Given the description of an element on the screen output the (x, y) to click on. 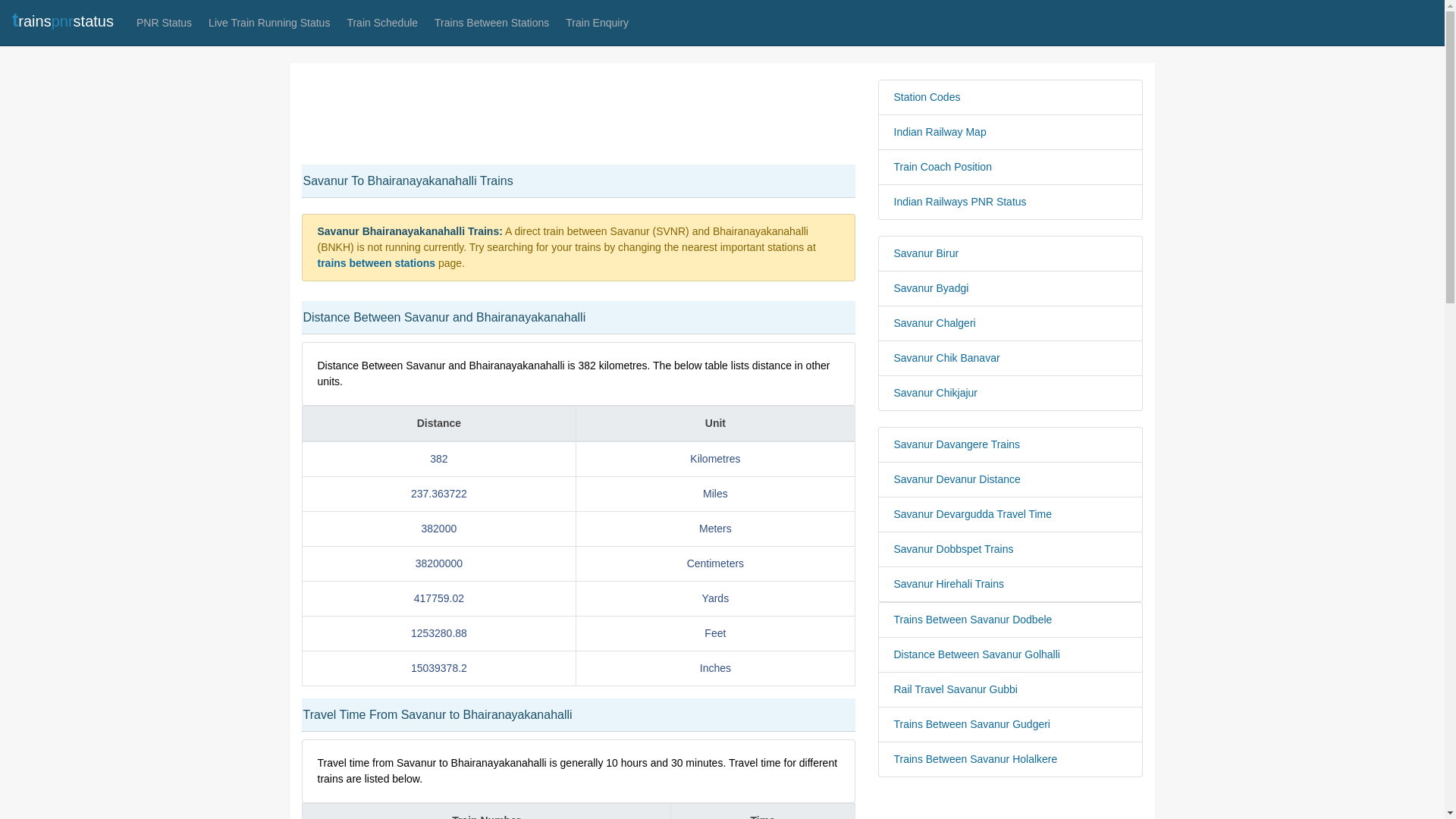
Train Coach Position (1009, 167)
Savanur Devanur Distance (1009, 479)
Station Codes (1009, 97)
PNR Status (164, 22)
trainspnrstatus (62, 21)
Advertisement (578, 113)
Savanur Byadgi (1009, 288)
Train Enquiry (596, 22)
Trains Between Savanur Holalkere (1009, 759)
Distance Between Savanur Golhalli (1009, 654)
Indian Railways PNR Status (1009, 202)
Advertisement (1009, 801)
Savanur Birur (1009, 253)
Indian Railway Map (1009, 131)
Live Train Running Status (269, 22)
